Given the description of an element on the screen output the (x, y) to click on. 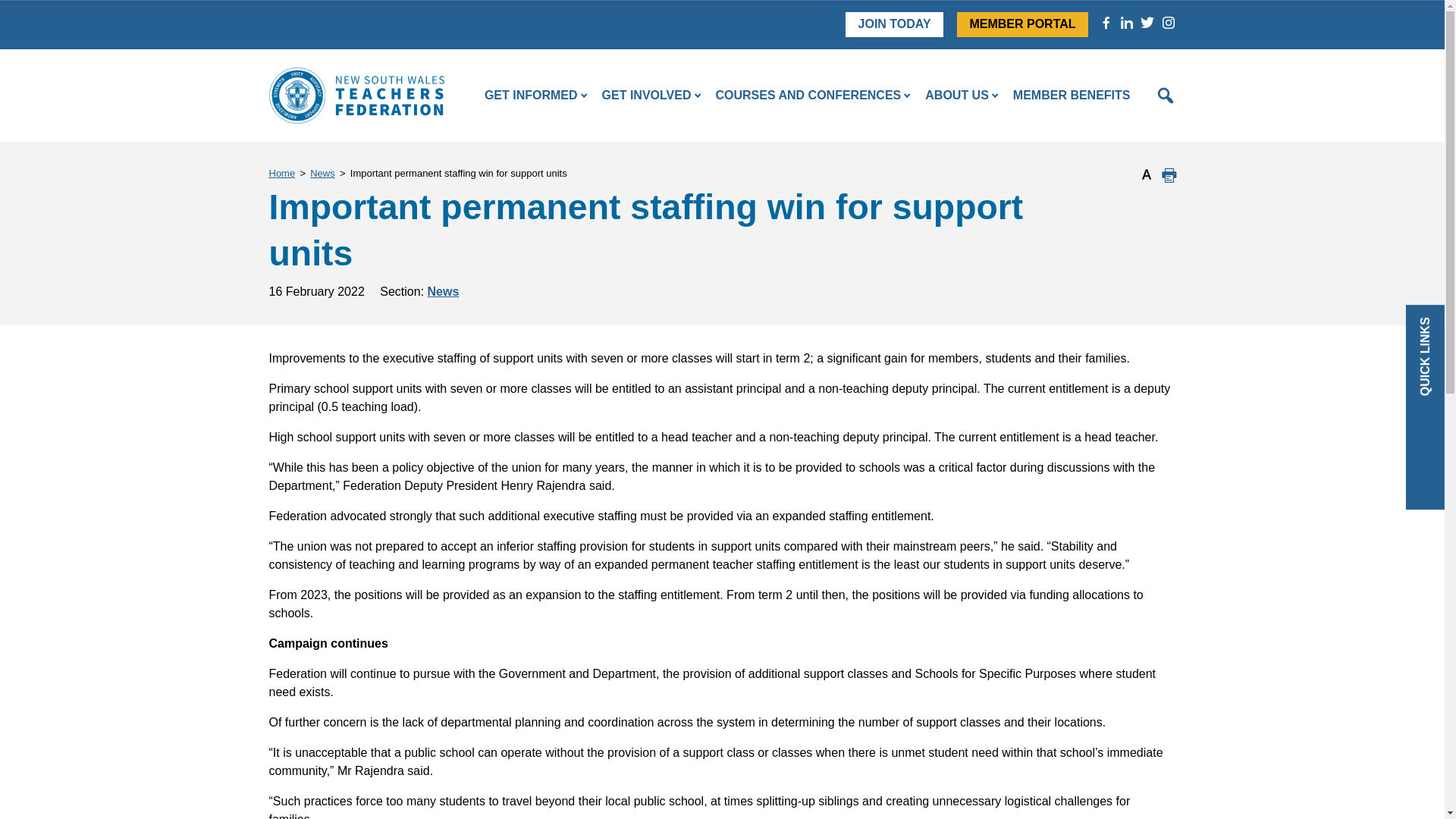
JOIN TODAY (894, 24)
MEMBER PORTAL (1022, 24)
COURSES AND CONFERENCES (808, 95)
GET INVOLVED (646, 95)
GET INFORMED (531, 95)
ABOUT US (956, 95)
